Given the description of an element on the screen output the (x, y) to click on. 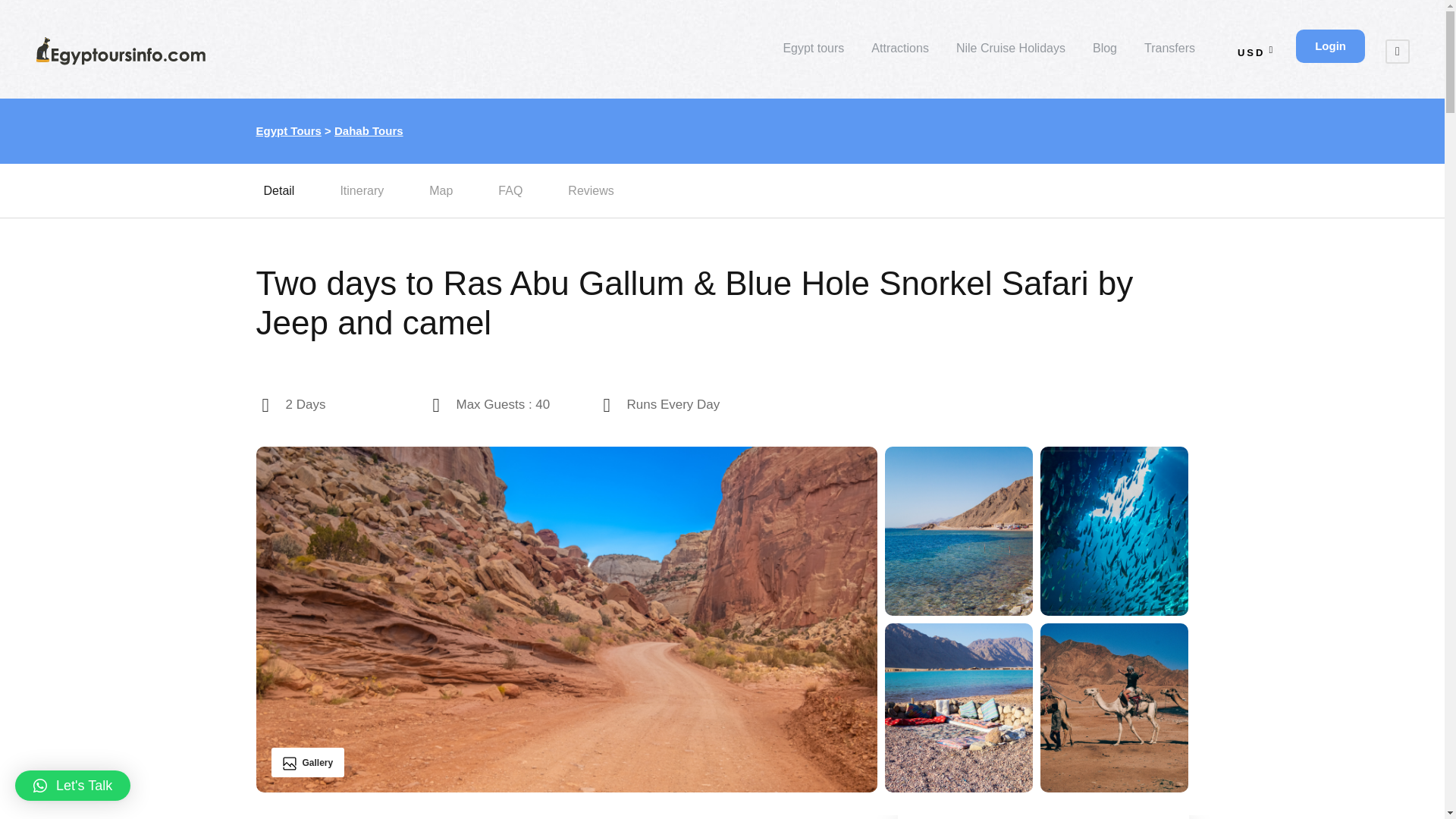
Itinerary (361, 190)
Detail (278, 190)
Attractions (899, 55)
Egypt Tours (288, 130)
Nile Cruise Holidays (1010, 55)
Egypt tours (813, 55)
Map (440, 190)
Transfers (1169, 55)
Dahab Tours (368, 130)
